Given the description of an element on the screen output the (x, y) to click on. 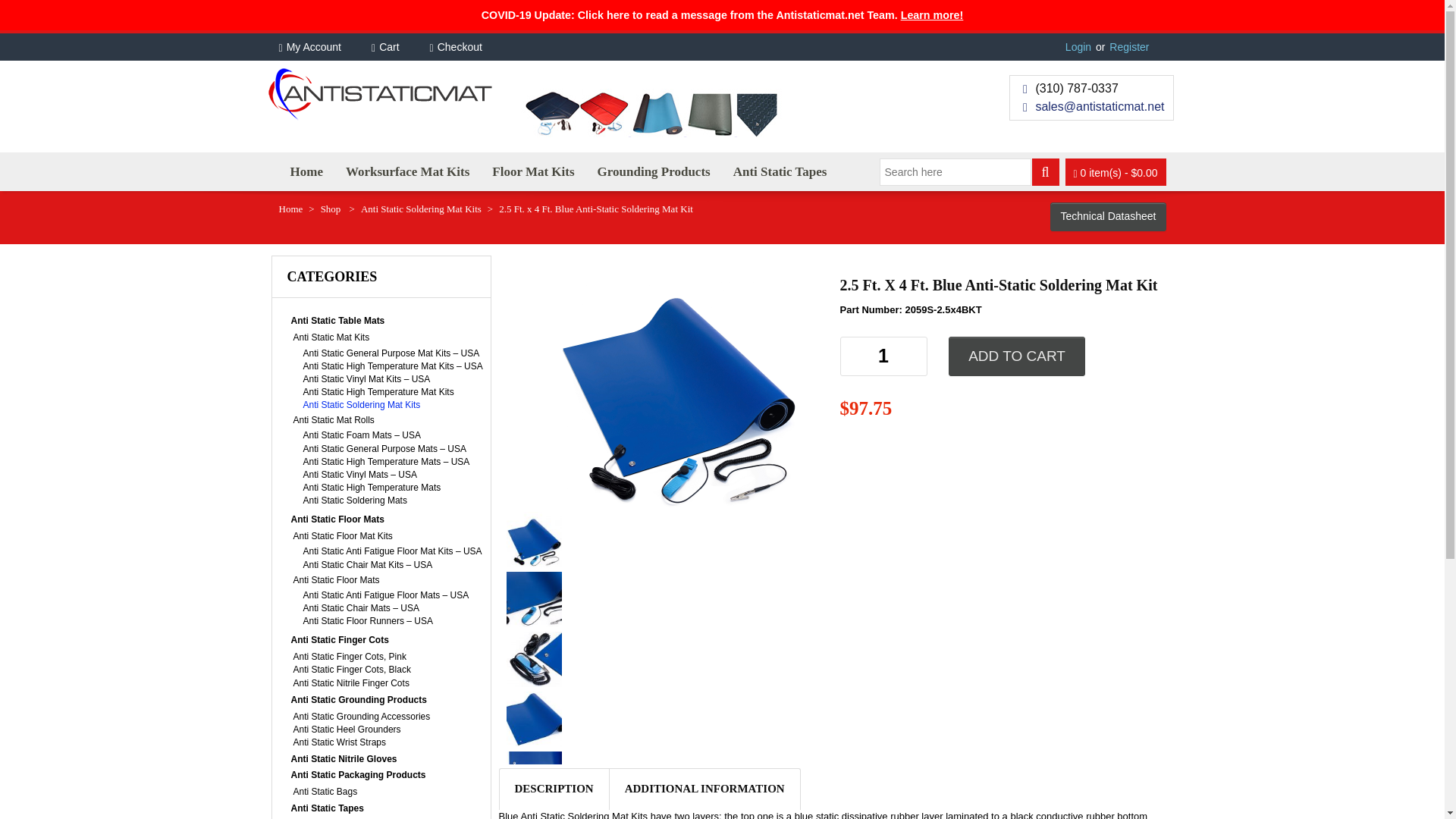
bluemat-accessories (677, 387)
bluemat-accessories (534, 538)
Login (1078, 46)
Home (306, 171)
Technical Datasheet (1107, 216)
Search (1045, 171)
Cart (400, 46)
Home (290, 208)
My Account (325, 46)
Checkout (470, 46)
Checkout (470, 46)
Worksurface Mat Kits (407, 171)
Anti Static Soldering Mat Kits (421, 208)
Cart (400, 46)
